Given the description of an element on the screen output the (x, y) to click on. 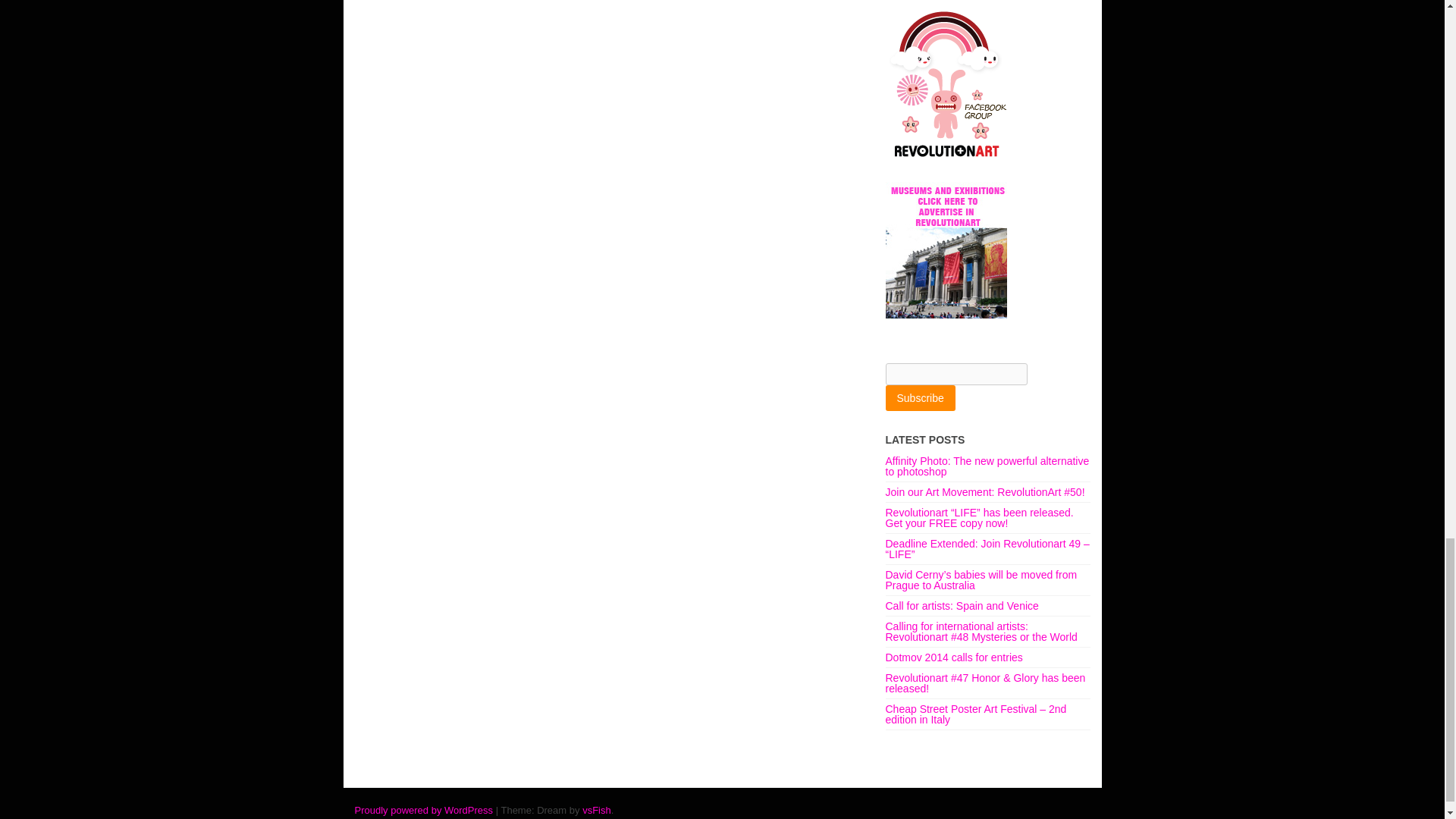
Subscribe (920, 397)
